Given the description of an element on the screen output the (x, y) to click on. 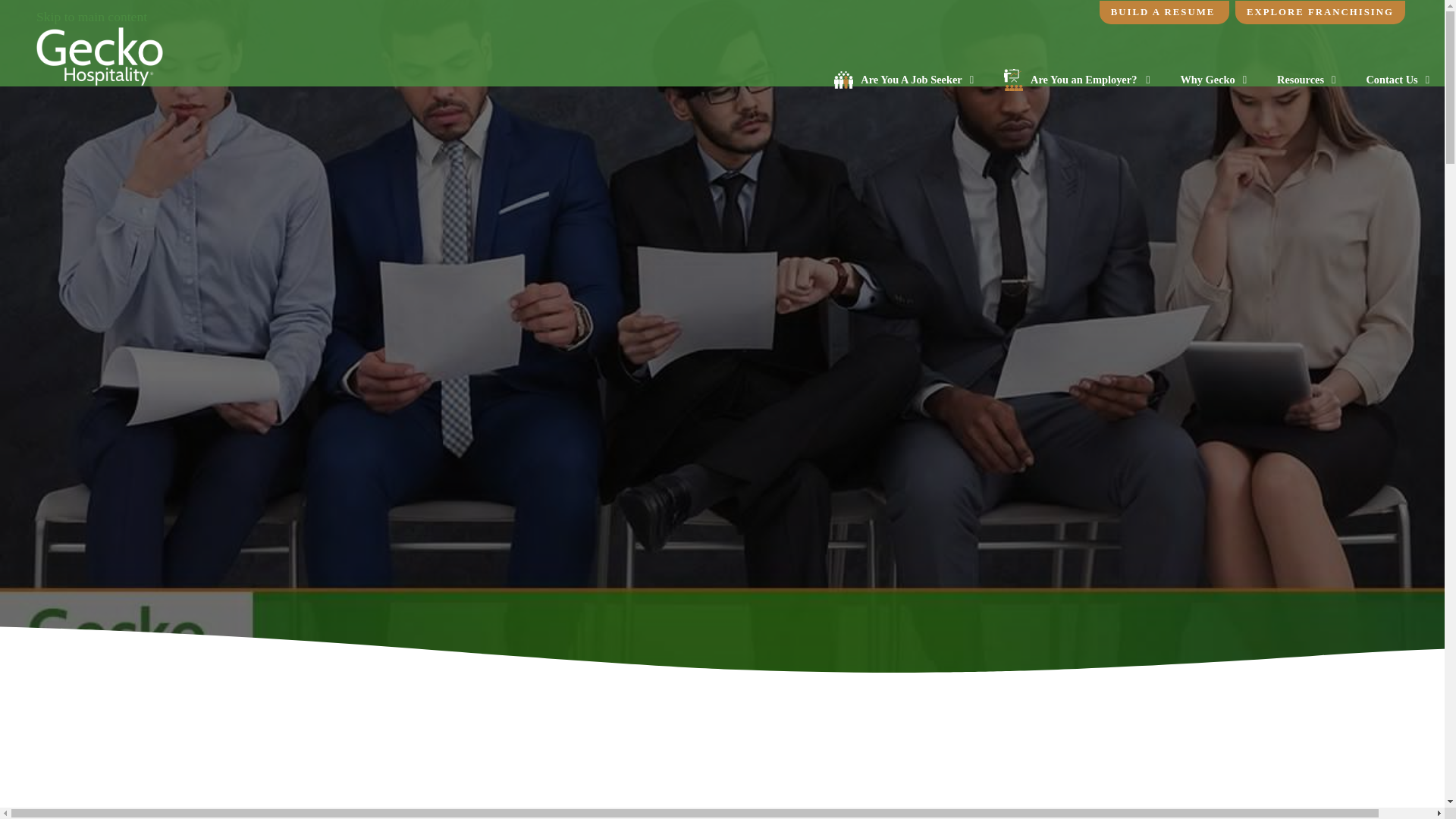
Are You A Job Seeker (903, 79)
Why Gecko (1213, 79)
Are You an Employer? (1076, 79)
BUILD A RESUME (1163, 12)
EXPLORE FRANCHISING (1319, 12)
Resources (1306, 79)
Skip to main content (91, 16)
